Given the description of an element on the screen output the (x, y) to click on. 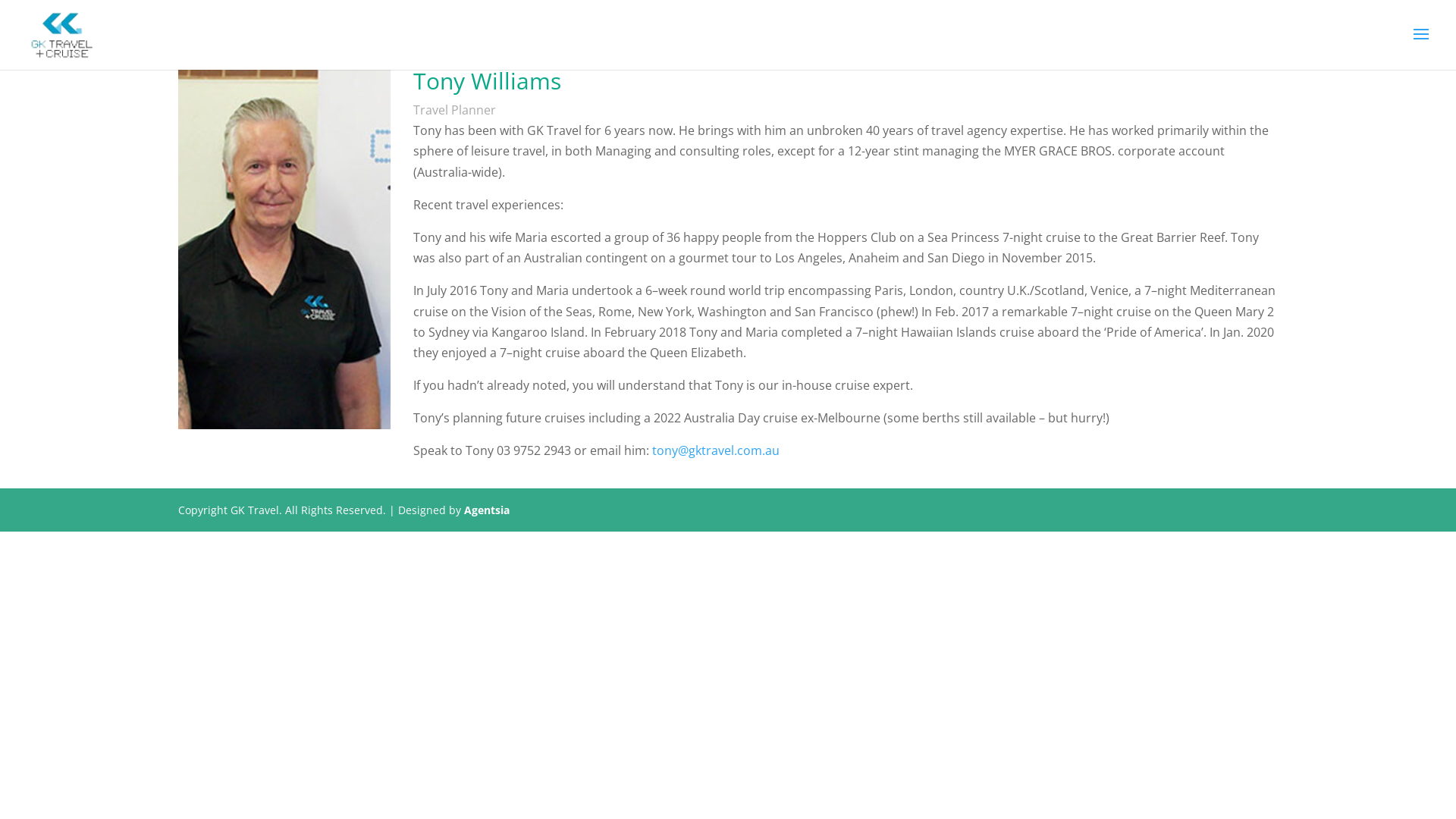
tony@gktravel.com.au Element type: text (715, 450)
Agentsia Element type: text (486, 509)
